Given the description of an element on the screen output the (x, y) to click on. 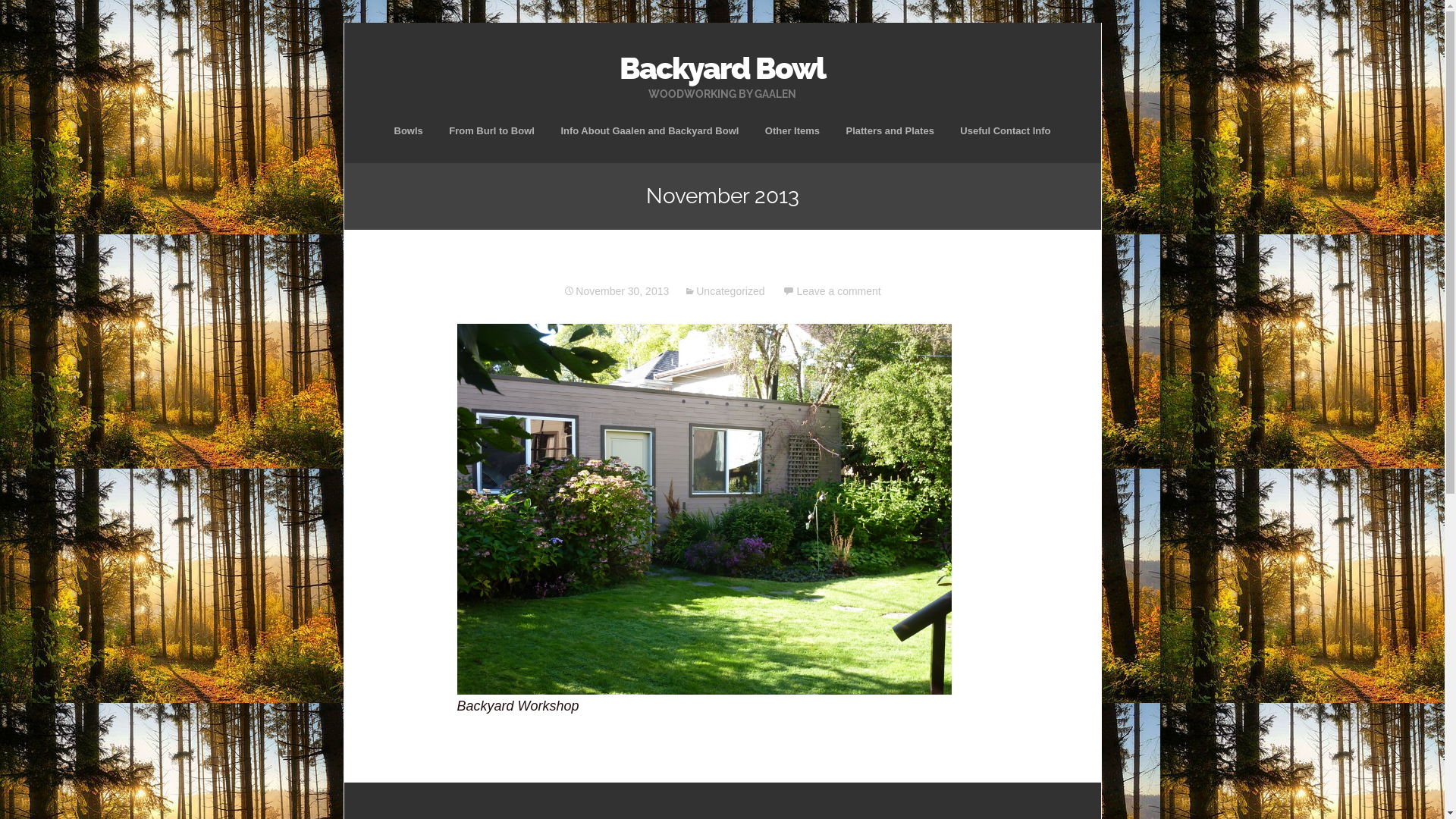
From Burl to Bowl Element type: text (491, 130)
Info About Gaalen and Backyard Bowl Element type: text (649, 130)
Uncategorized Element type: text (724, 291)
Bowls Element type: text (407, 130)
November 30, 2013 Element type: text (615, 291)
Search Element type: text (33, 16)
Useful Contact Info Element type: text (1004, 130)
Backyard Bowl
WOODWORKING BY GAALEN Element type: text (722, 70)
Platters and Plates Element type: text (889, 130)
Skip to content Element type: text (721, 119)
Leave a comment Element type: text (831, 291)
Other Items Element type: text (792, 130)
